Given the description of an element on the screen output the (x, y) to click on. 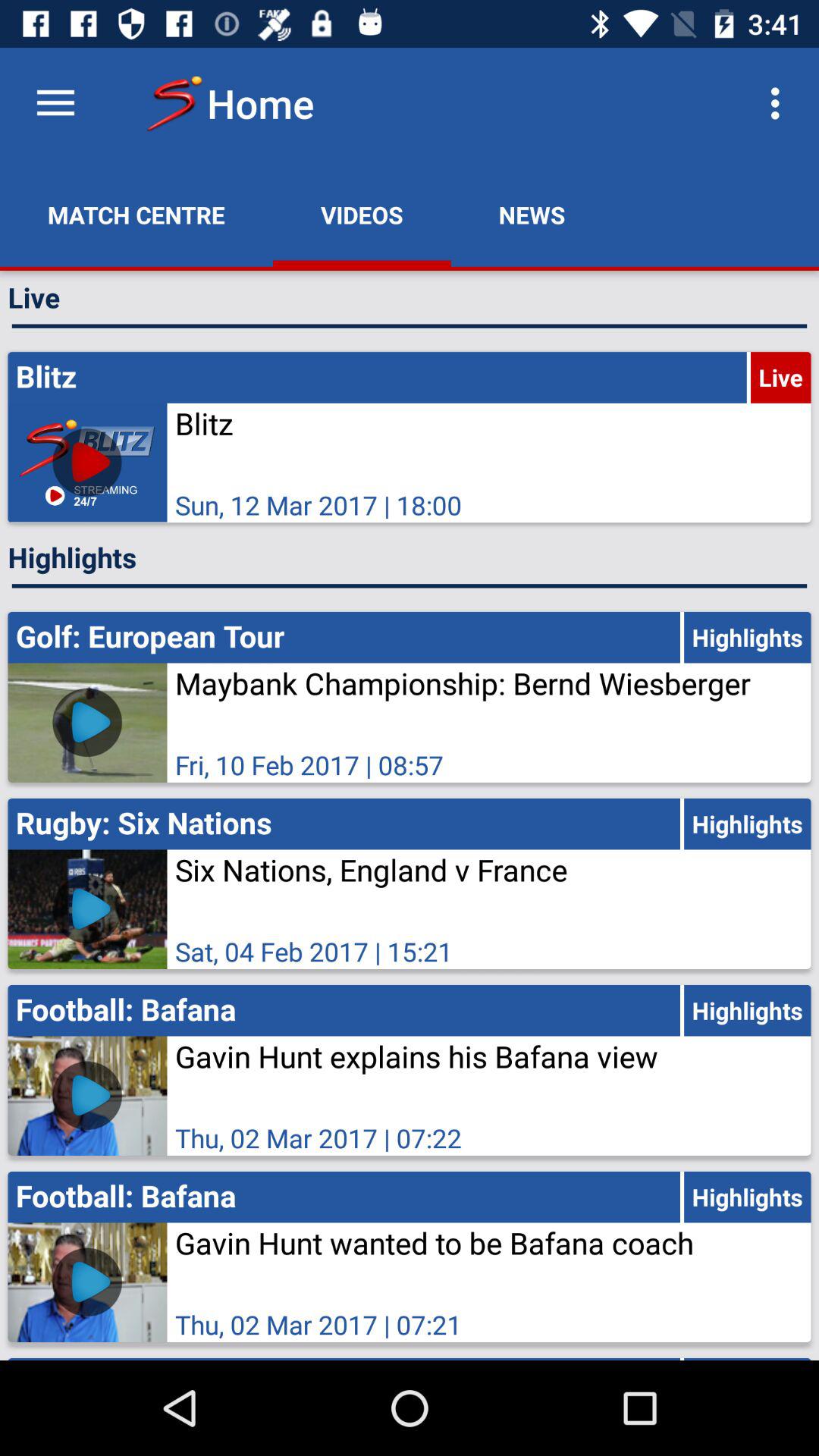
main menu (55, 103)
